Given the description of an element on the screen output the (x, y) to click on. 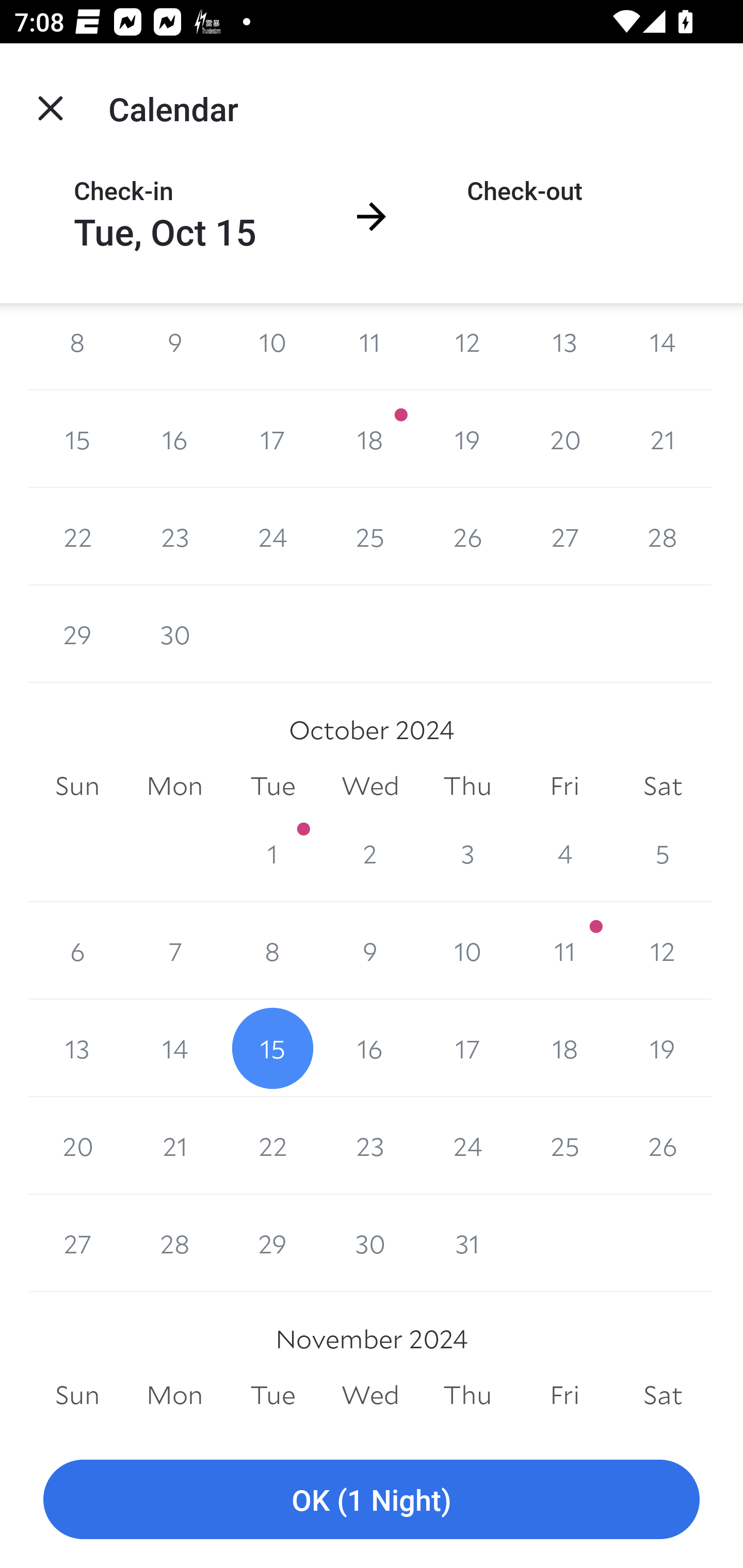
8 8 September 2024 (77, 346)
9 9 September 2024 (174, 346)
10 10 September 2024 (272, 346)
11 11 September 2024 (370, 346)
12 12 September 2024 (467, 346)
13 13 September 2024 (564, 346)
14 14 September 2024 (662, 346)
15 15 September 2024 (77, 438)
16 16 September 2024 (174, 438)
17 17 September 2024 (272, 438)
18 18 September 2024 (370, 438)
19 19 September 2024 (467, 438)
20 20 September 2024 (564, 438)
21 21 September 2024 (662, 438)
22 22 September 2024 (77, 535)
23 23 September 2024 (174, 535)
24 24 September 2024 (272, 535)
25 25 September 2024 (370, 535)
26 26 September 2024 (467, 535)
27 27 September 2024 (564, 535)
28 28 September 2024 (662, 535)
29 29 September 2024 (77, 633)
30 30 September 2024 (174, 633)
Sun (77, 785)
Mon (174, 785)
Tue (272, 785)
Wed (370, 785)
Thu (467, 785)
Fri (564, 785)
Sat (662, 785)
1 1 October 2024 (272, 852)
2 2 October 2024 (370, 852)
3 3 October 2024 (467, 852)
4 4 October 2024 (564, 852)
5 5 October 2024 (662, 852)
6 6 October 2024 (77, 950)
7 7 October 2024 (174, 950)
8 8 October 2024 (272, 950)
9 9 October 2024 (370, 950)
10 10 October 2024 (467, 950)
11 11 October 2024 (564, 950)
12 12 October 2024 (662, 950)
13 13 October 2024 (77, 1048)
14 14 October 2024 (174, 1048)
15 15 October 2024 (272, 1048)
16 16 October 2024 (370, 1048)
17 17 October 2024 (467, 1048)
18 18 October 2024 (564, 1048)
19 19 October 2024 (662, 1048)
